Given the description of an element on the screen output the (x, y) to click on. 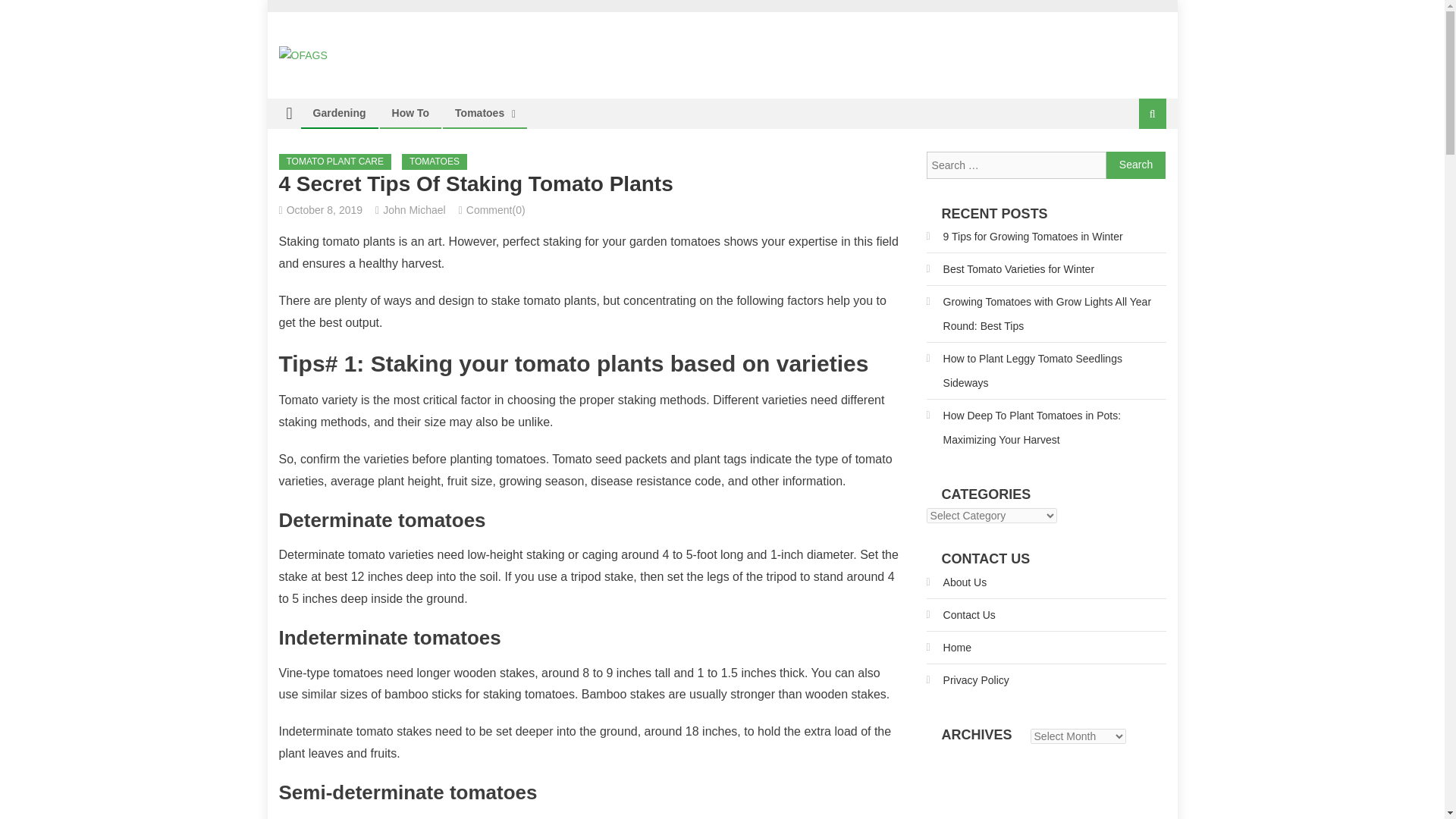
John Michael (413, 209)
Gardening (339, 112)
Tomatoes (479, 112)
TOMATOES (434, 161)
Search (1136, 165)
October 8, 2019 (324, 209)
TOMATO PLANT CARE (335, 161)
How To (410, 112)
Search (1133, 164)
Search (1136, 165)
